Given the description of an element on the screen output the (x, y) to click on. 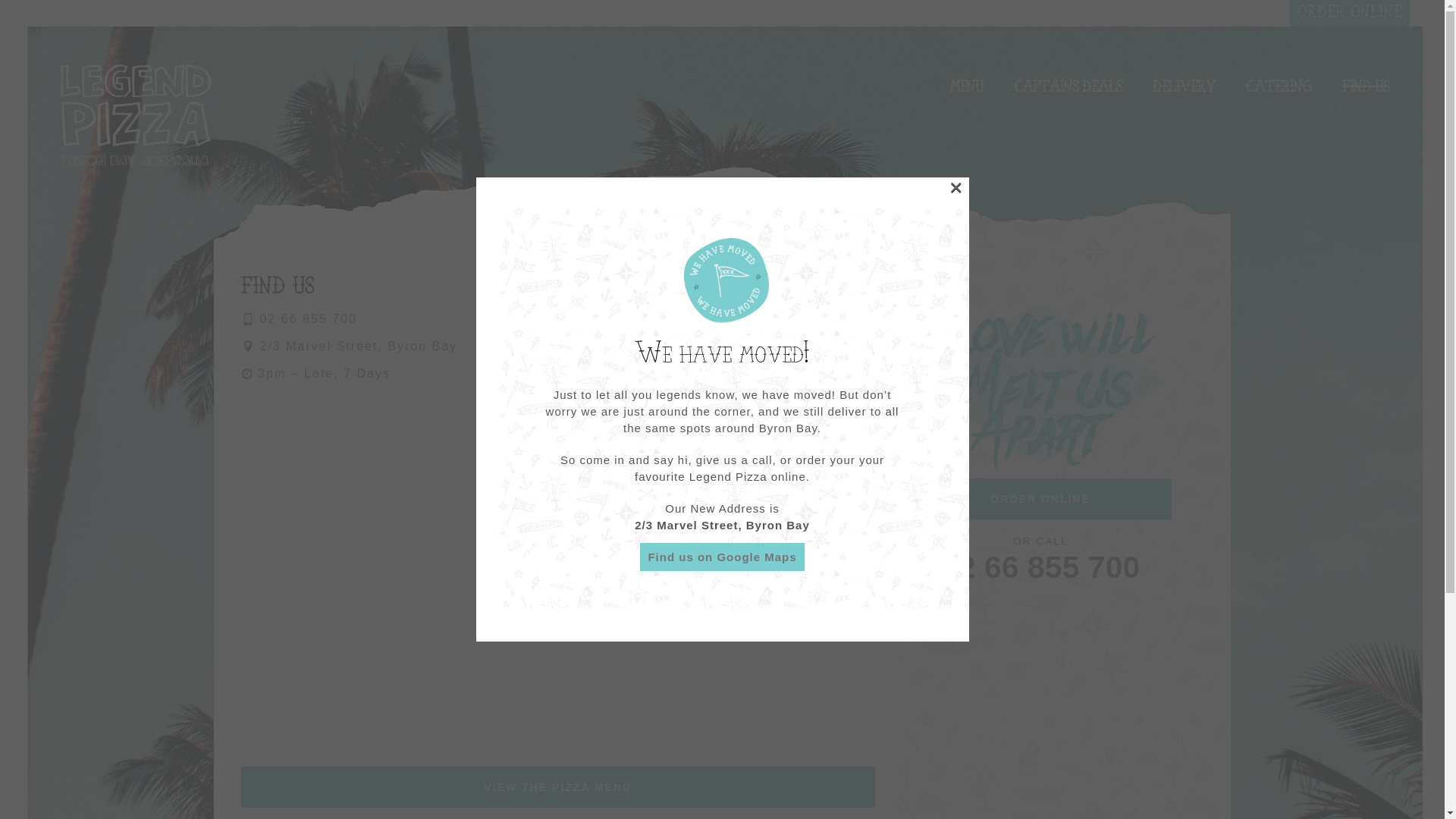
ORDER ONLINE Element type: text (1349, 13)
CAPTAINS DEALS Element type: text (1067, 82)
VIEW THE PIZZA MENU Element type: text (558, 786)
CATERING Element type: text (1278, 82)
DELIVERY Element type: text (1183, 82)
Byron Bay Pizza Element type: hover (133, 113)
02 66 855 700 Element type: text (1040, 566)
FIND US Element type: text (1365, 82)
MENU Element type: text (966, 82)
02 66 855 700 Element type: text (307, 318)
ORDER ONLINE Element type: text (1040, 498)
legendpizzalovewill-01 Element type: hover (1040, 382)
Find us on Google Maps Element type: text (721, 556)
